Given the description of an element on the screen output the (x, y) to click on. 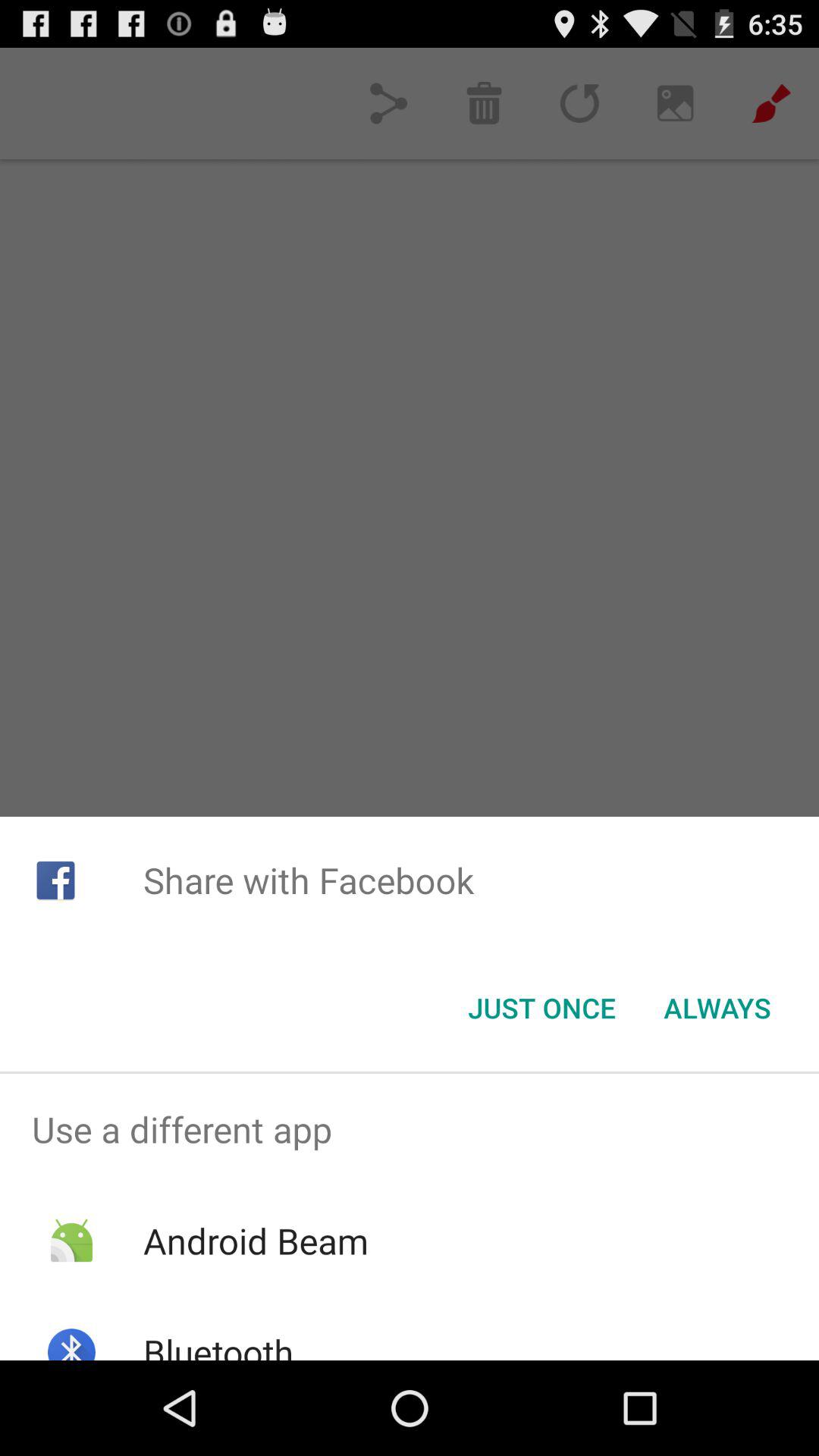
tap just once button (541, 1007)
